Given the description of an element on the screen output the (x, y) to click on. 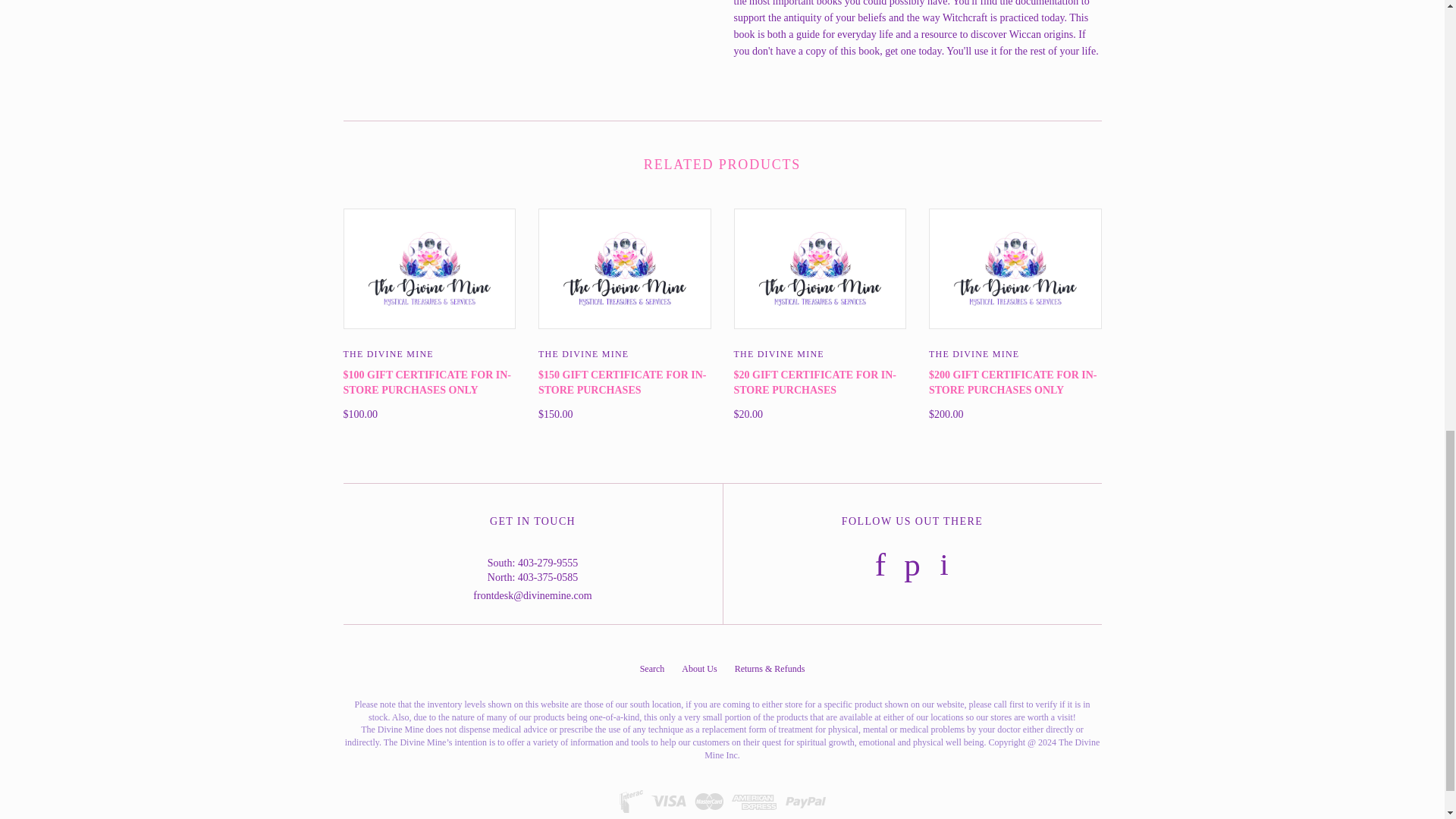
The Divine Mine (778, 353)
The Divine Mine (387, 353)
The Divine Mine (973, 353)
The Divine Mine (583, 353)
